Given the description of an element on the screen output the (x, y) to click on. 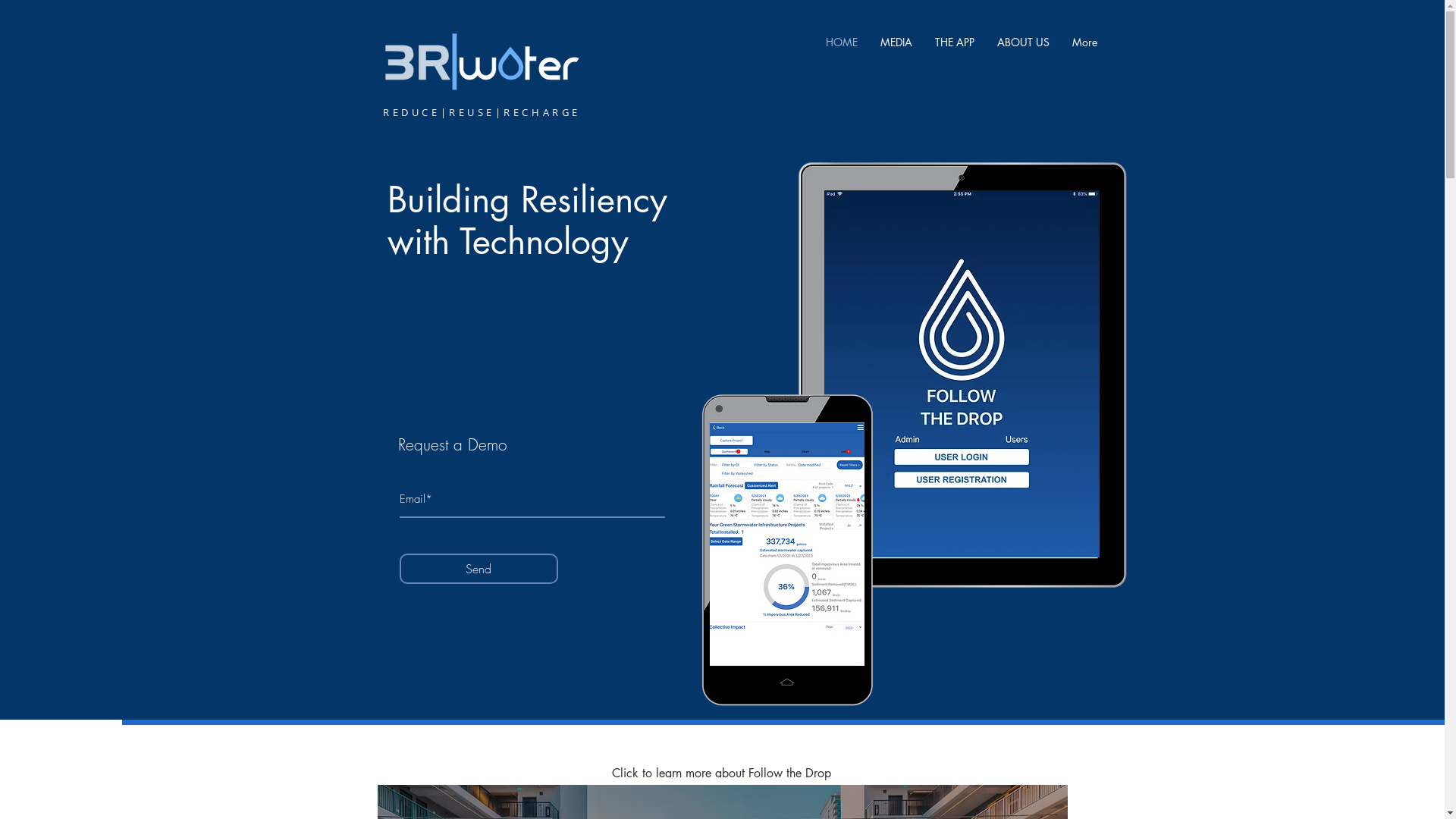
ABOUT US Element type: text (1022, 41)
MEDIA Element type: text (896, 41)
HOME Element type: text (841, 41)
THE APP Element type: text (954, 41)
REDUCE|REUSE|RECHARGE Element type: text (481, 113)
Send Element type: text (477, 568)
